Given the description of an element on the screen output the (x, y) to click on. 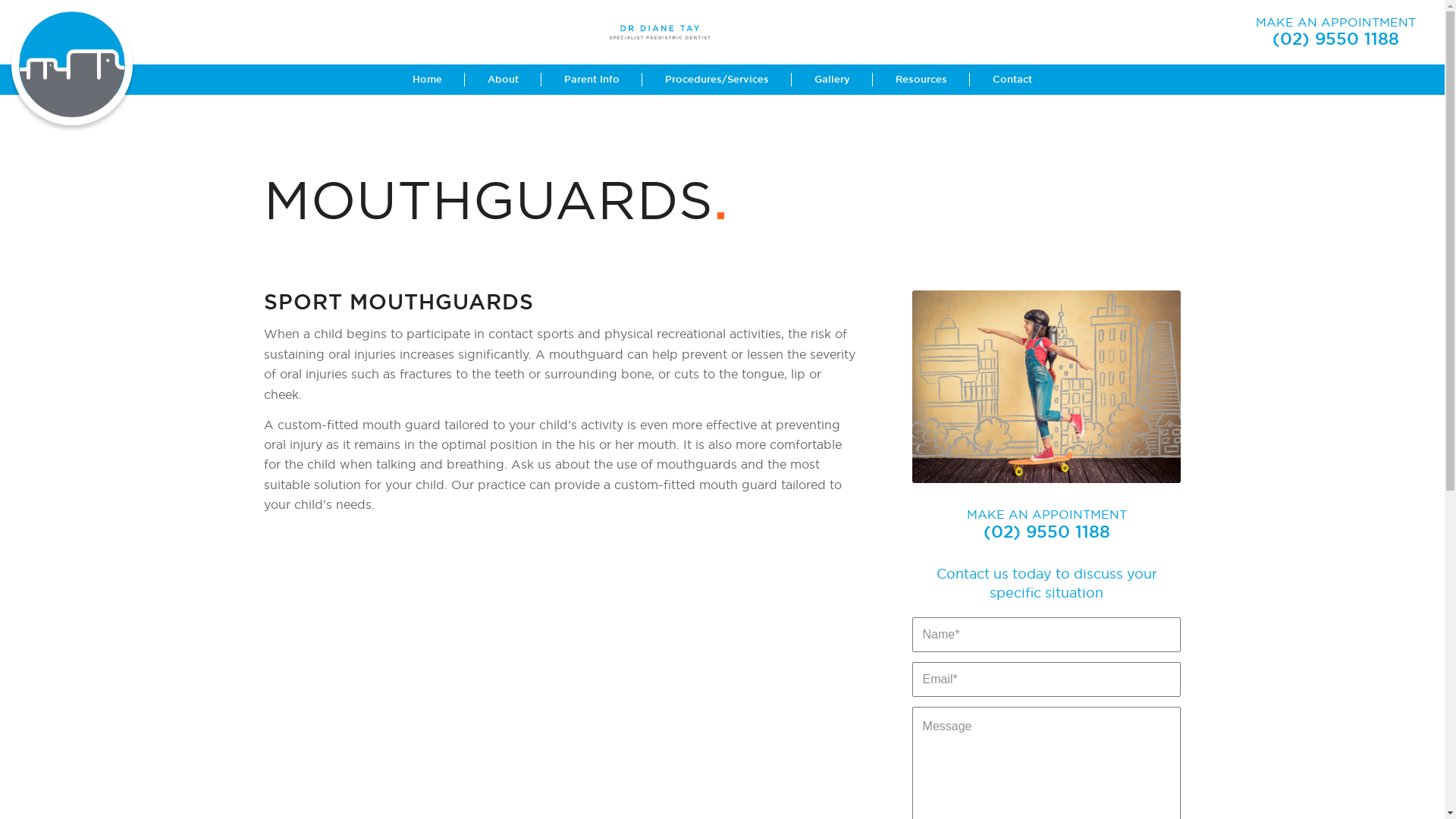
(02) 9550 1188 Element type: text (1045, 531)
(02) 9550 1188 Element type: text (1335, 38)
Resources Element type: text (920, 79)
Parent Info Element type: text (591, 79)
Procedures/Services Element type: text (716, 79)
Contact Element type: text (1011, 79)
Gallery Element type: text (831, 79)
Home Element type: text (426, 79)
About Element type: text (502, 79)
